Given the description of an element on the screen output the (x, y) to click on. 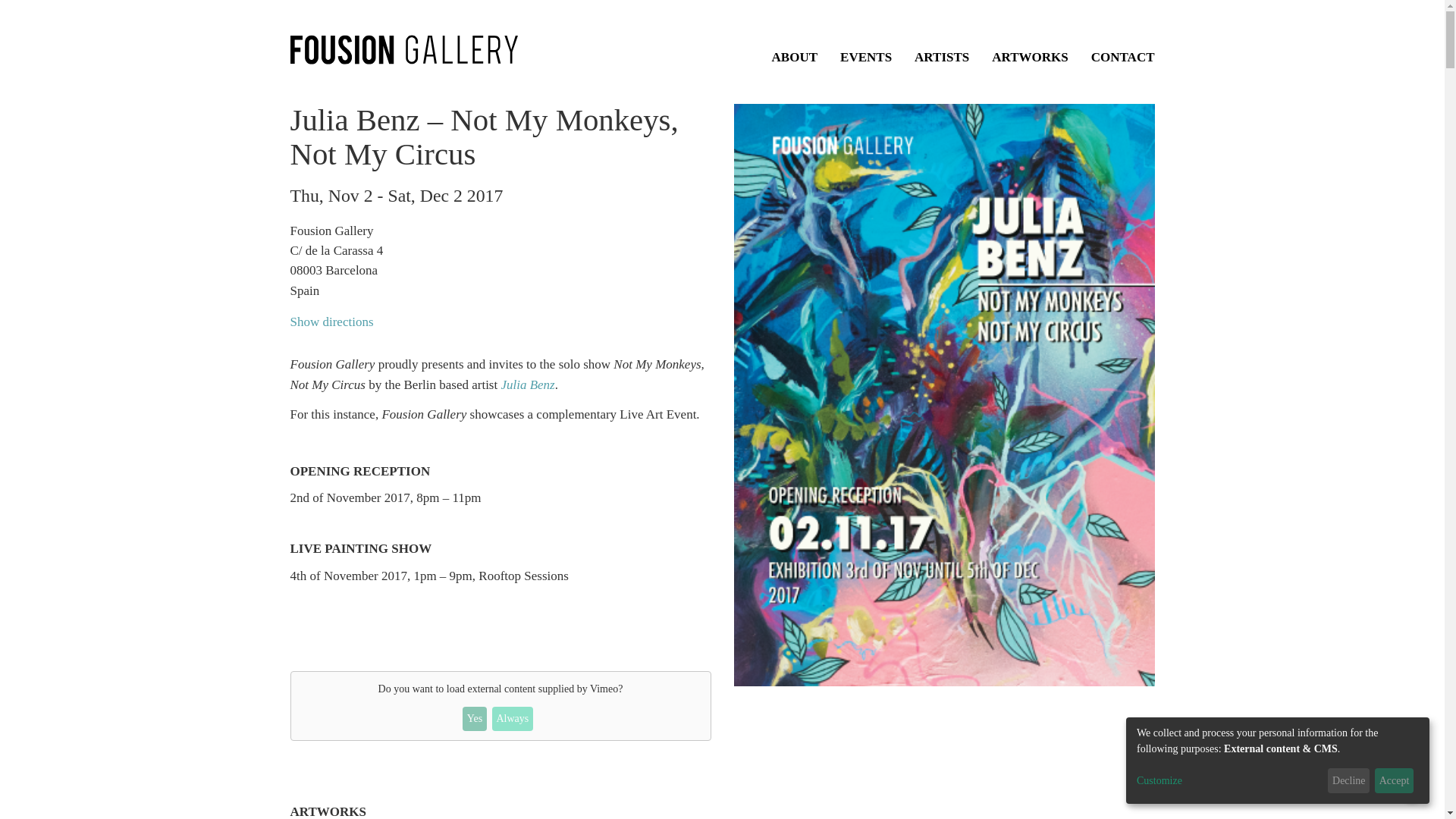
Yes (474, 719)
Manage consents (1412, 786)
ARTISTS (941, 57)
CONTACT (1122, 57)
EVENTS (865, 57)
Always (512, 719)
Show directions (330, 321)
ABOUT (793, 57)
ARTWORKS (1029, 57)
